Given the description of an element on the screen output the (x, y) to click on. 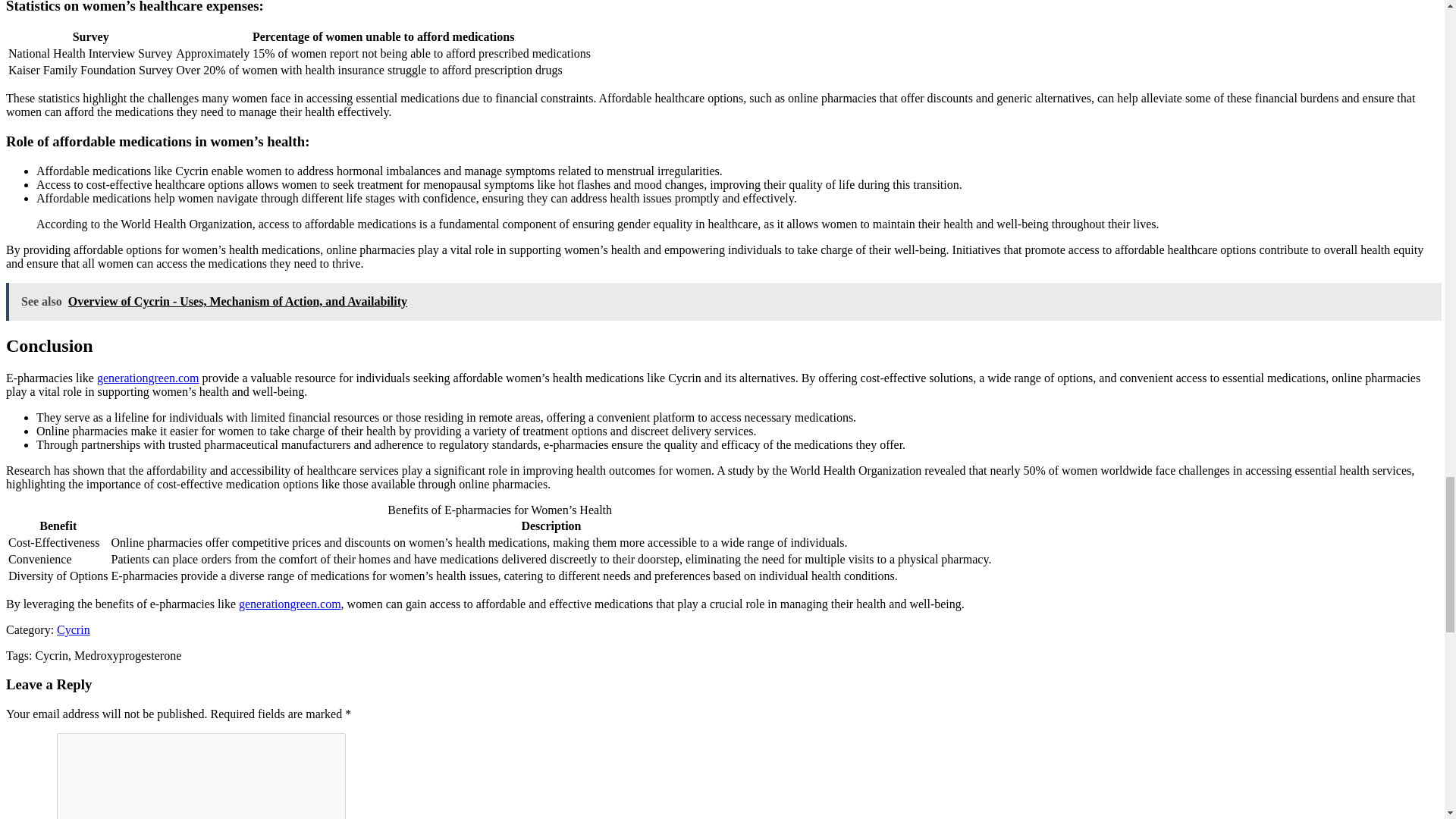
generationgreen.com (289, 603)
generationgreen.com (148, 377)
Cycrin (73, 629)
